Given the description of an element on the screen output the (x, y) to click on. 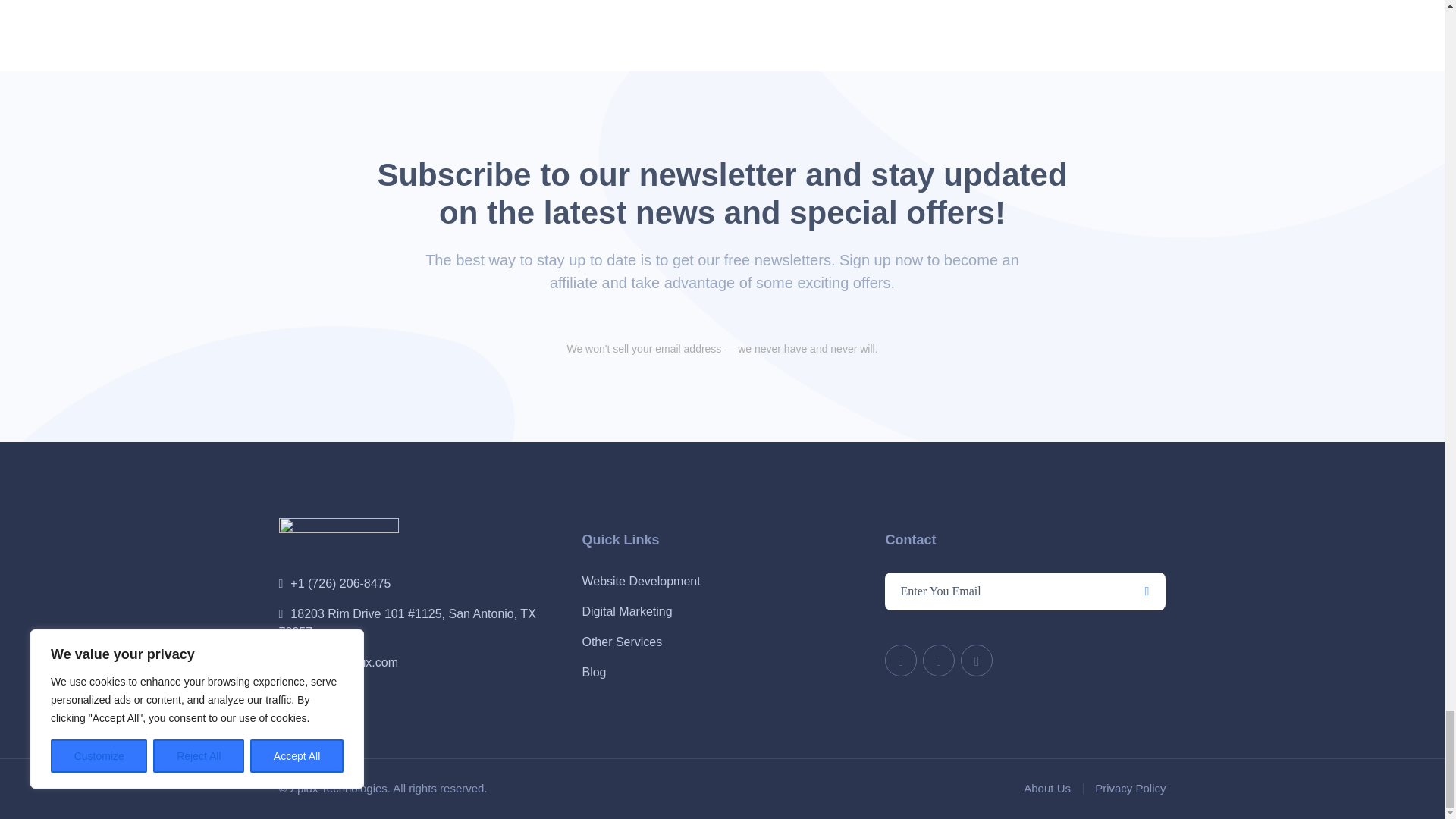
instagram (976, 660)
twitter (901, 660)
facebook-f (939, 660)
